Given the description of an element on the screen output the (x, y) to click on. 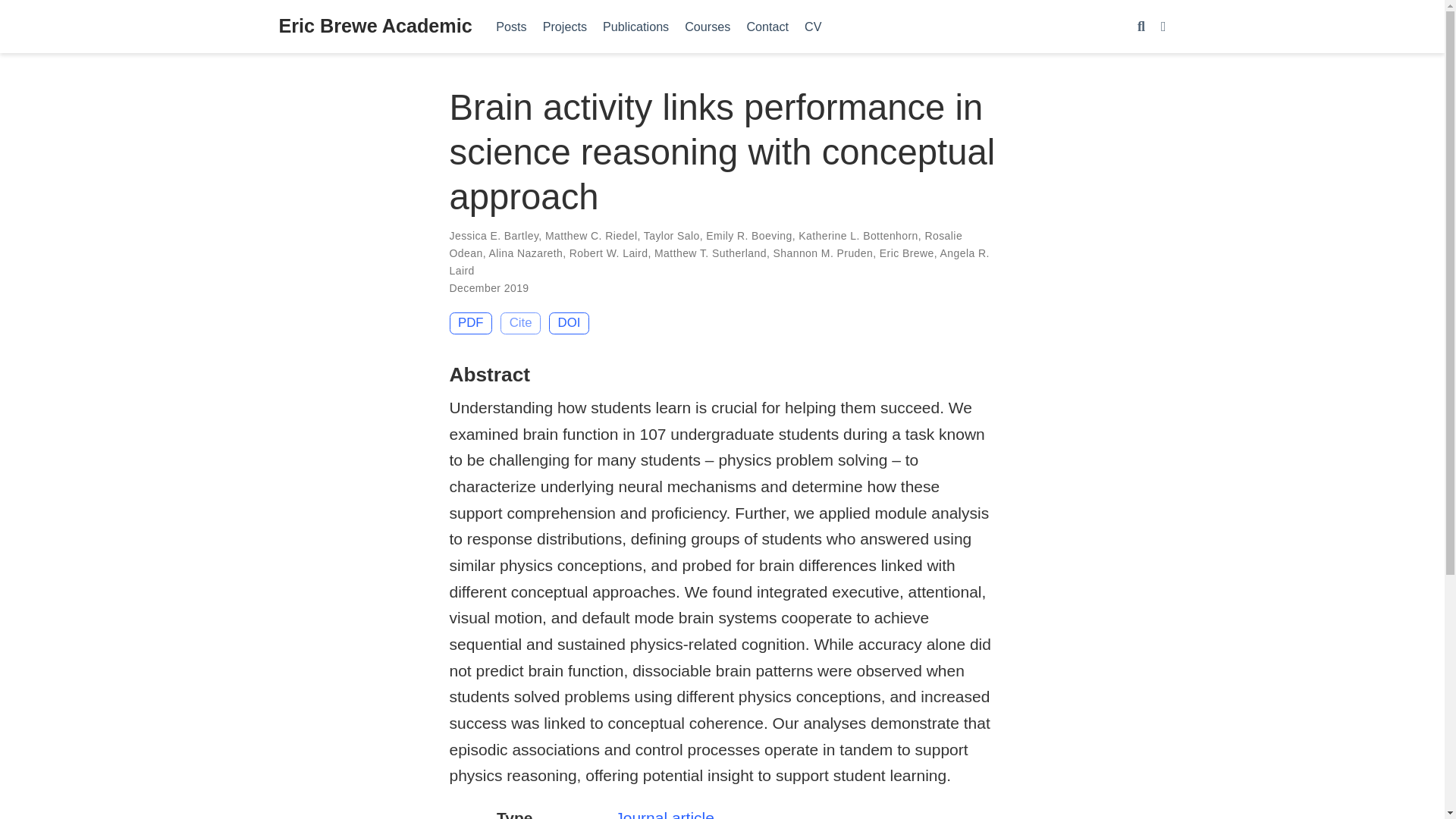
Matthew T. Sutherland (710, 253)
Katherine L. Bottenhorn (857, 235)
Contact (767, 25)
Alina Nazareth (524, 253)
Emily R. Boeving (749, 235)
Shannon M. Pruden (823, 253)
Robert W. Laird (608, 253)
Publications (636, 25)
Projects (564, 25)
Posts (510, 25)
Jessica E. Bartley (493, 235)
CV (812, 25)
Cite (520, 323)
Eric Brewe (906, 253)
DOI (568, 323)
